Given the description of an element on the screen output the (x, y) to click on. 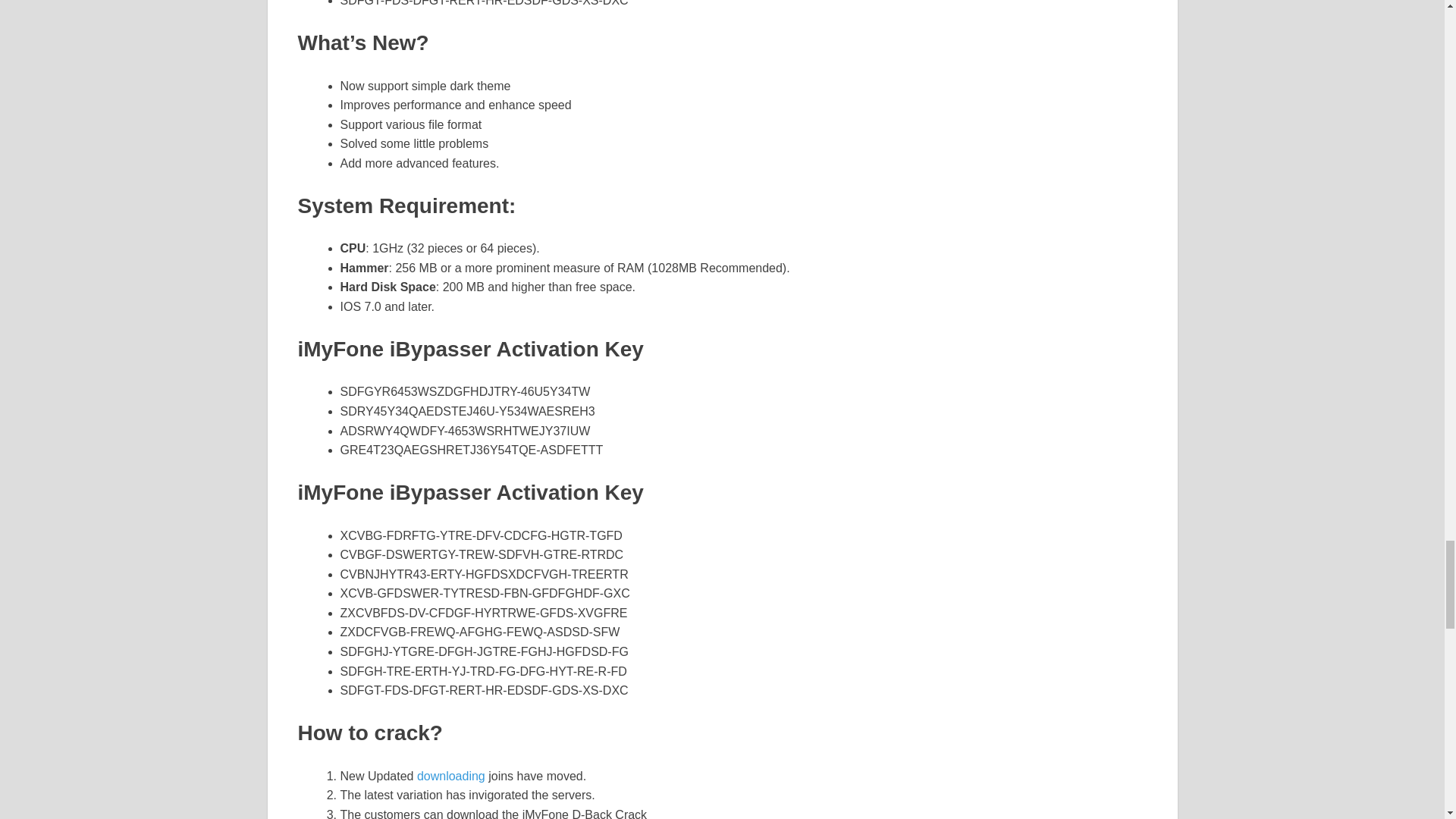
downloading (450, 775)
